Given the description of an element on the screen output the (x, y) to click on. 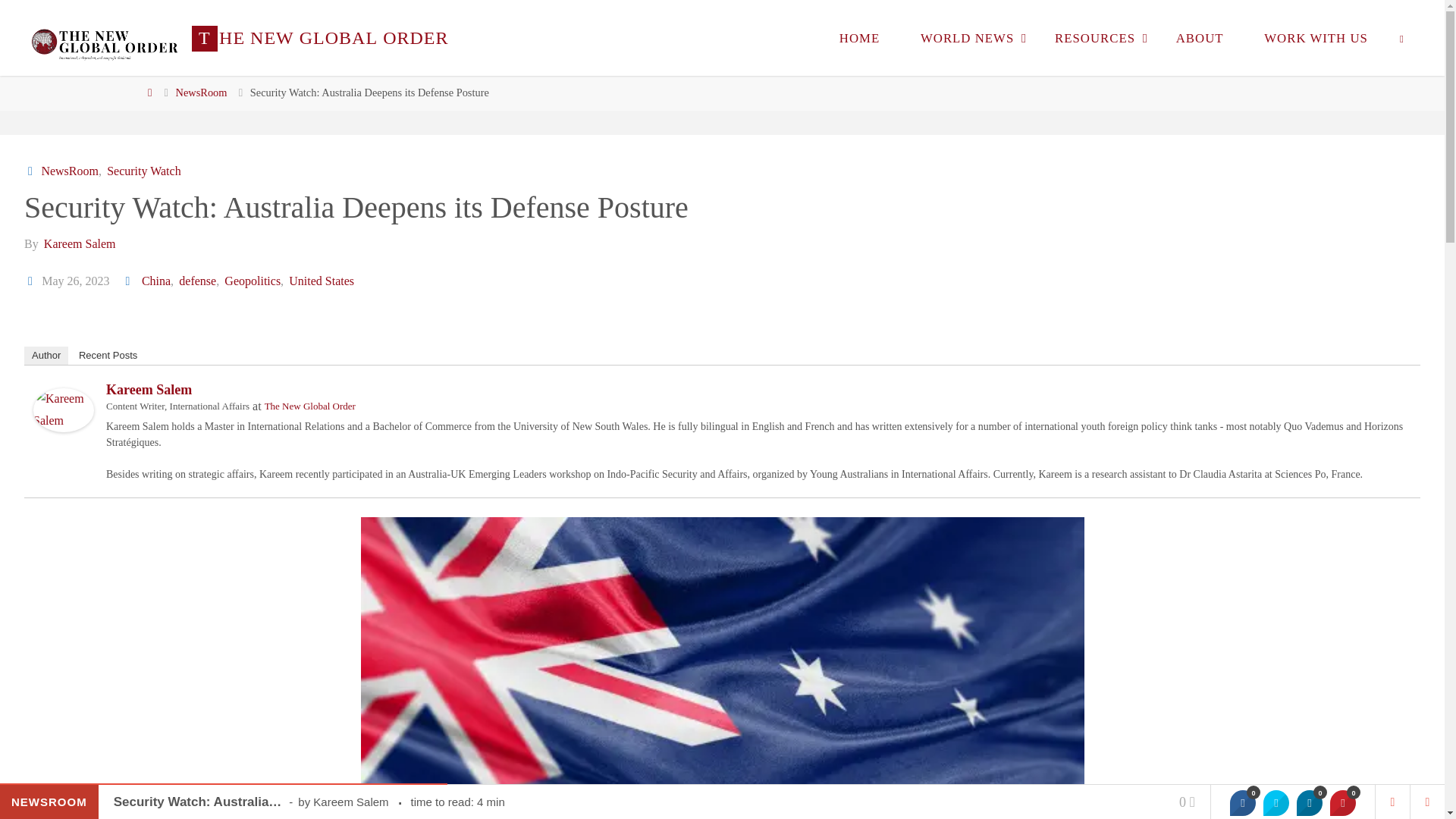
The New Global Order (104, 37)
Tagged (129, 280)
Date (31, 280)
View all posts by Kareem Salem (79, 243)
Categories (31, 170)
International, independent, and nonprofit think tank. (320, 37)
HOME (858, 38)
THE NEW GLOBAL ORDER (320, 37)
WORLD NEWS (966, 38)
Kareem Salem (63, 408)
